Given the description of an element on the screen output the (x, y) to click on. 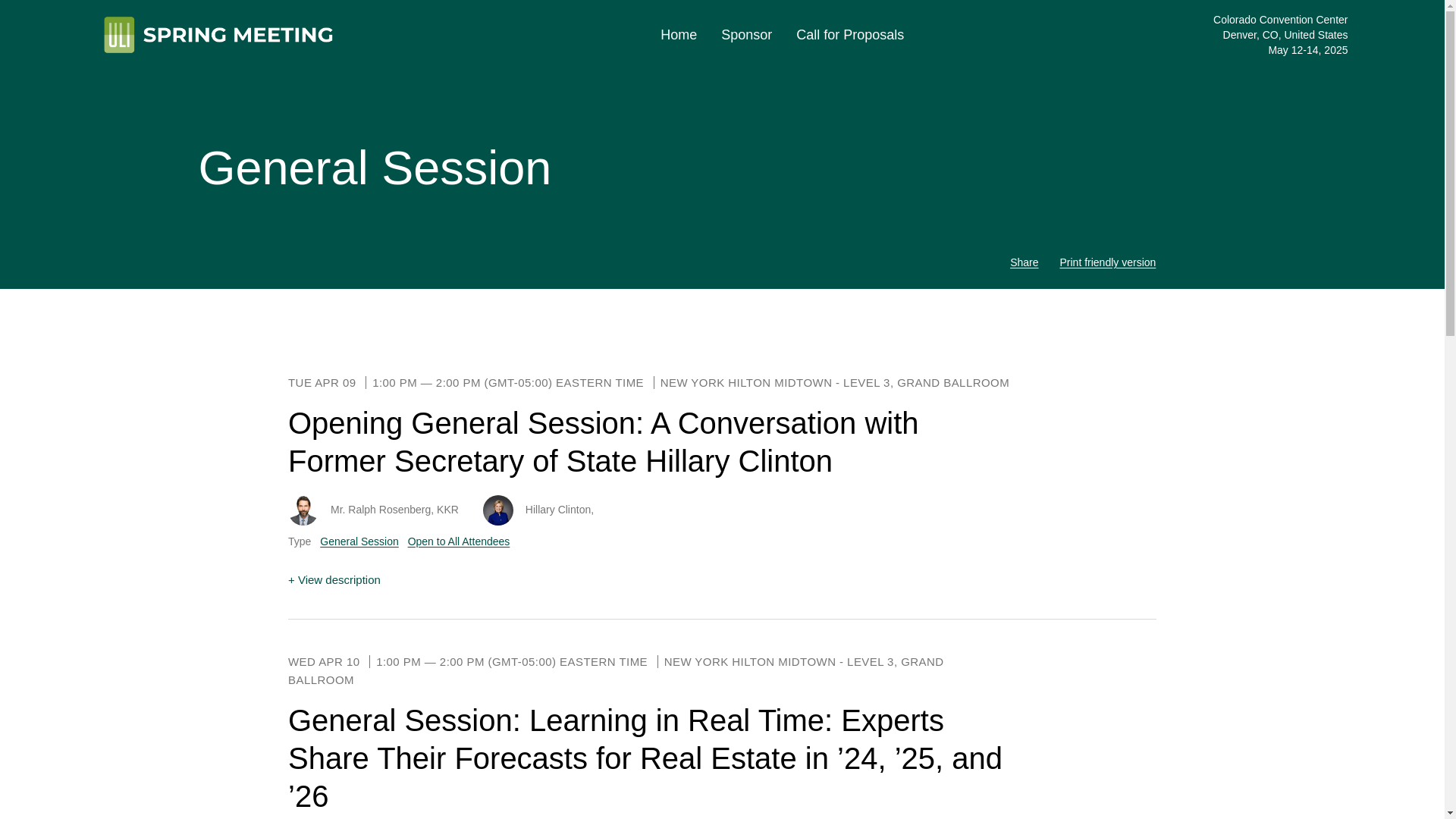
Home (679, 34)
General Session (359, 541)
Mr. Ralph Rosenberg, KKR (394, 509)
Hillary Clinton, (559, 509)
Open to All Attendees (459, 541)
Call for Proposals (850, 34)
Print friendly version (1107, 263)
Sponsor (745, 34)
Share (1024, 263)
